Given the description of an element on the screen output the (x, y) to click on. 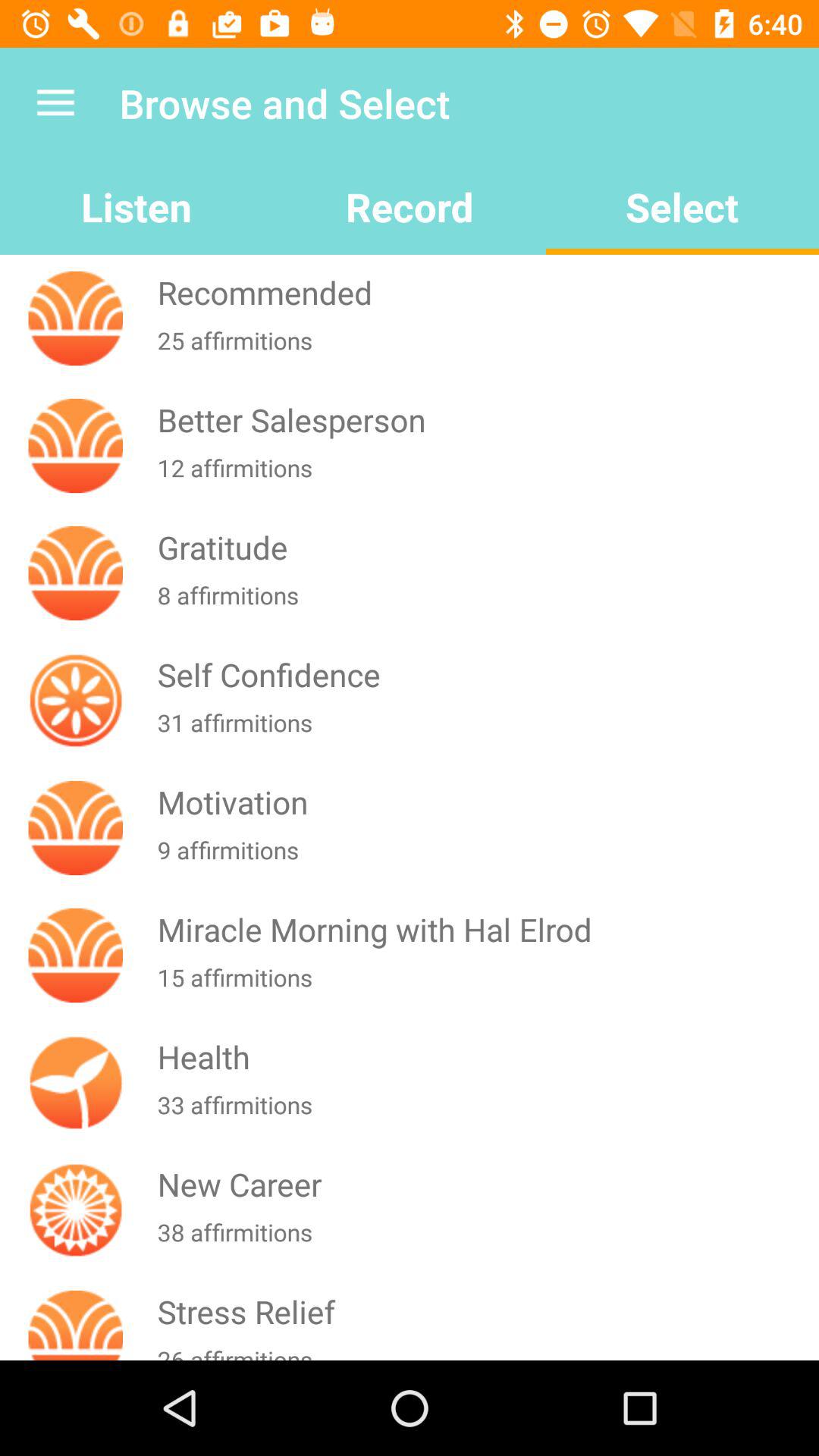
choose item to the left of browse and select item (55, 103)
